Given the description of an element on the screen output the (x, y) to click on. 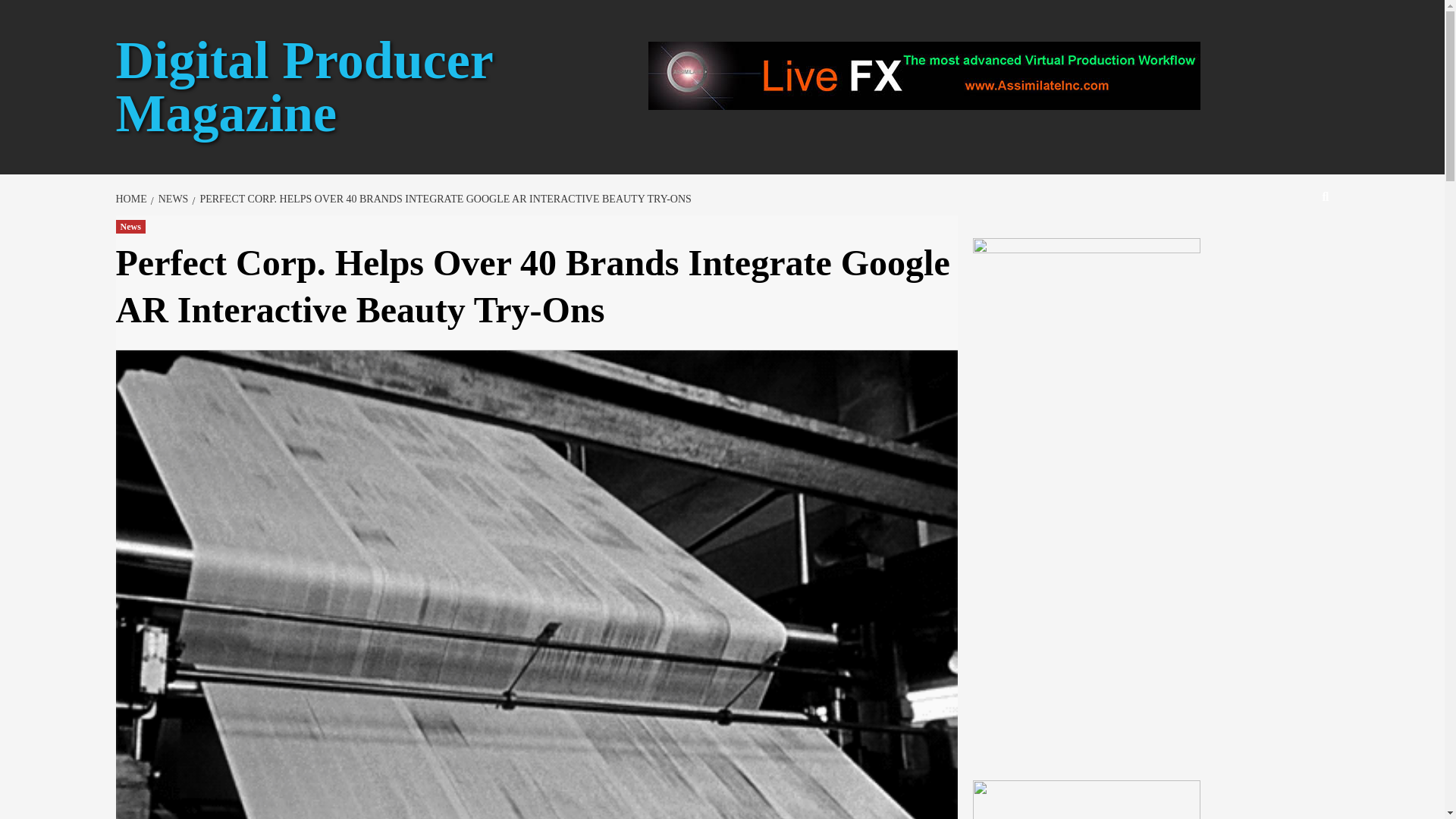
NEWS (171, 198)
Digital Producer Magazine (303, 86)
HOME (132, 198)
News (129, 226)
